Given the description of an element on the screen output the (x, y) to click on. 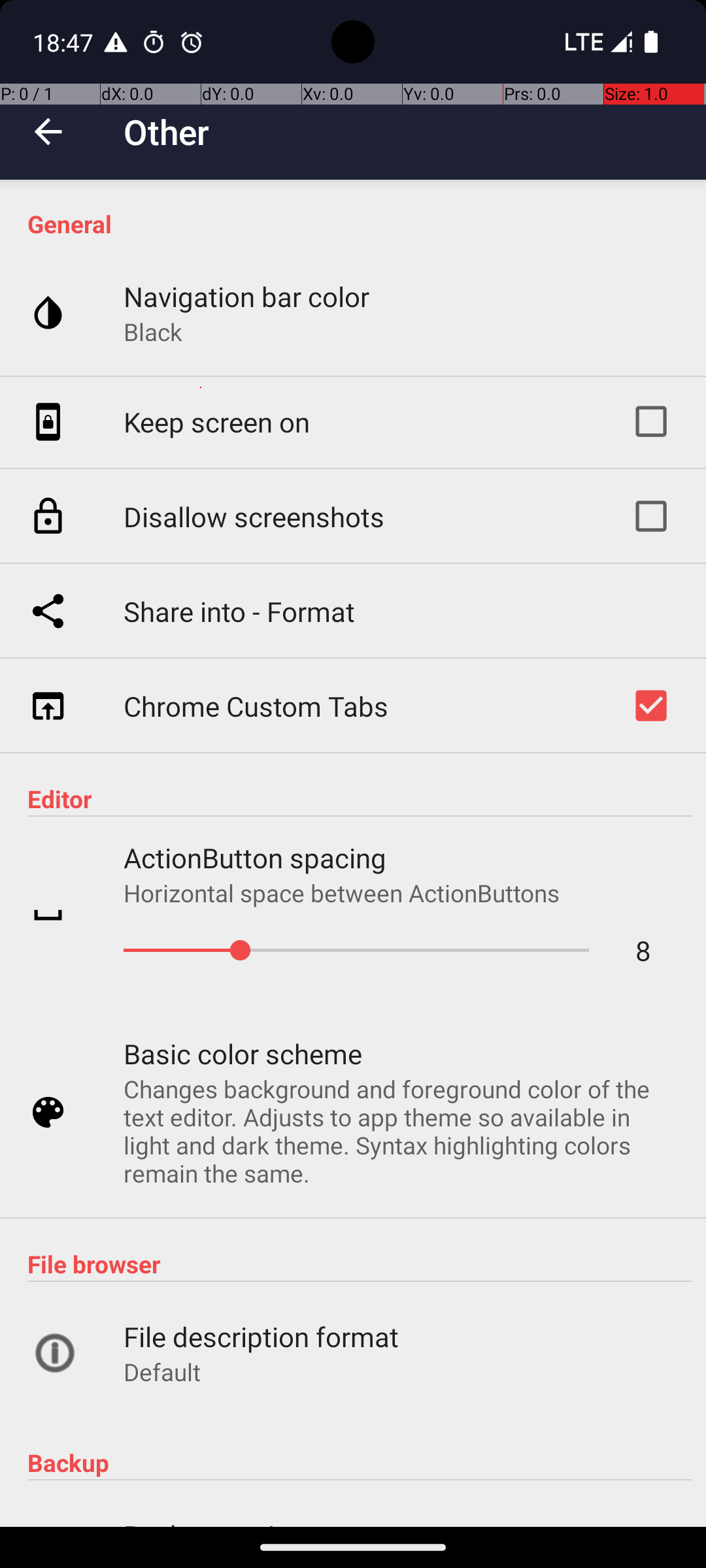
Other Element type: android.widget.TextView (166, 131)
General Element type: android.widget.TextView (359, 223)
Editor Element type: android.widget.TextView (359, 798)
File browser Element type: android.widget.TextView (359, 1263)
Backup Element type: android.widget.TextView (359, 1462)
Navigation bar color Element type: android.widget.TextView (246, 295)
Black Element type: android.widget.TextView (152, 331)
Keep screen on Element type: android.widget.TextView (216, 421)
Disallow screenshots Element type: android.widget.TextView (253, 516)
Share into - Format Element type: android.widget.TextView (238, 610)
Chrome Custom Tabs Element type: android.widget.TextView (255, 705)
ActionButton spacing Element type: android.widget.TextView (254, 857)
Horizontal space between ActionButtons Element type: android.widget.TextView (341, 892)
Basic color scheme Element type: android.widget.TextView (242, 1053)
Changes background and foreground color of the text editor. Adjusts to app theme so available in light and dark theme. Syntax highlighting colors remain the same. Element type: android.widget.TextView (400, 1130)
File description format Element type: android.widget.TextView (260, 1336)
Default Element type: android.widget.TextView (161, 1371)
Backup settings Element type: android.widget.TextView (221, 1521)
18:47 Element type: android.widget.TextView (64, 41)
Clock notification: Upcoming alarm Element type: android.widget.ImageView (191, 41)
